Given the description of an element on the screen output the (x, y) to click on. 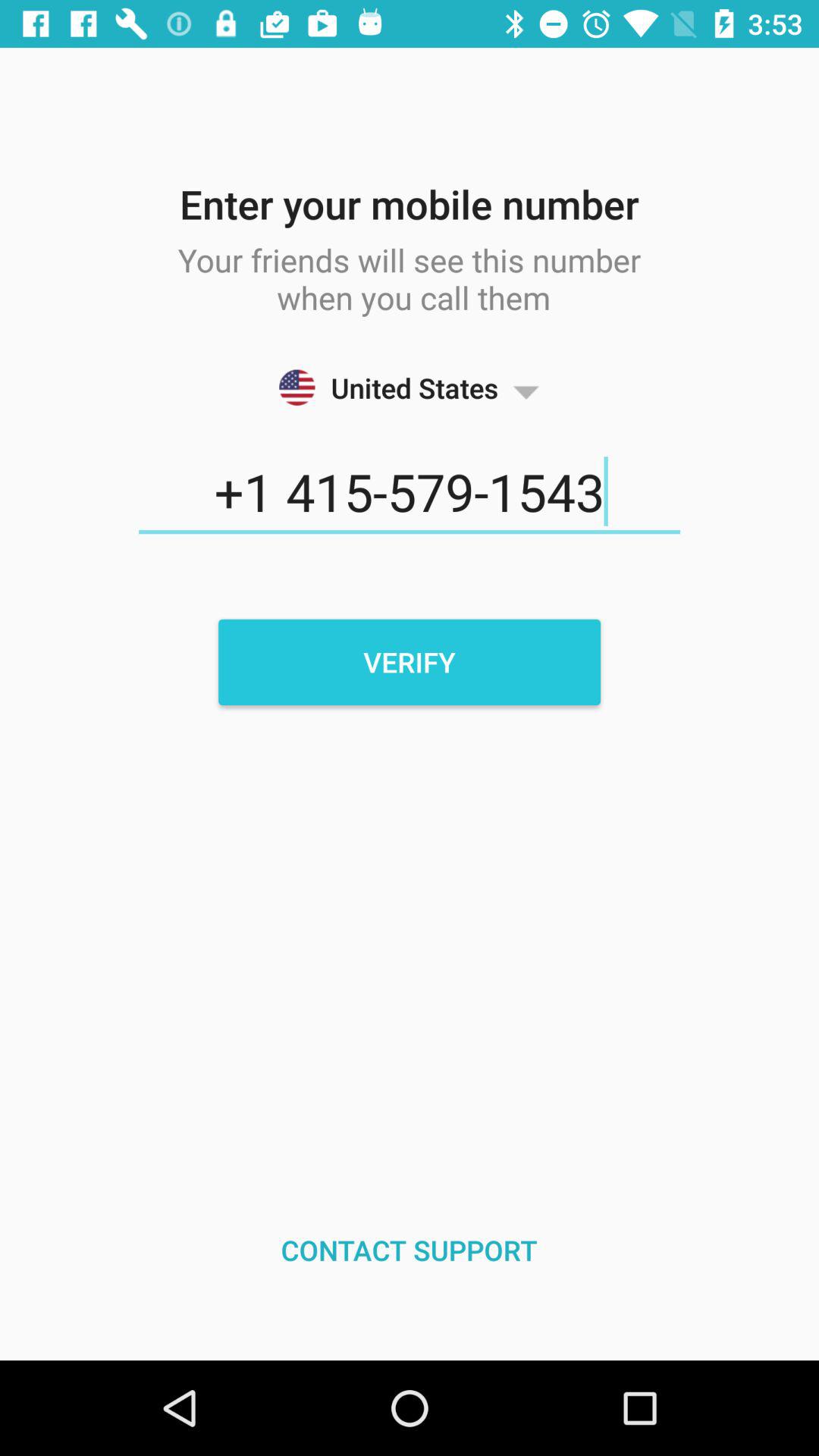
choose 1 415 579 (409, 491)
